Given the description of an element on the screen output the (x, y) to click on. 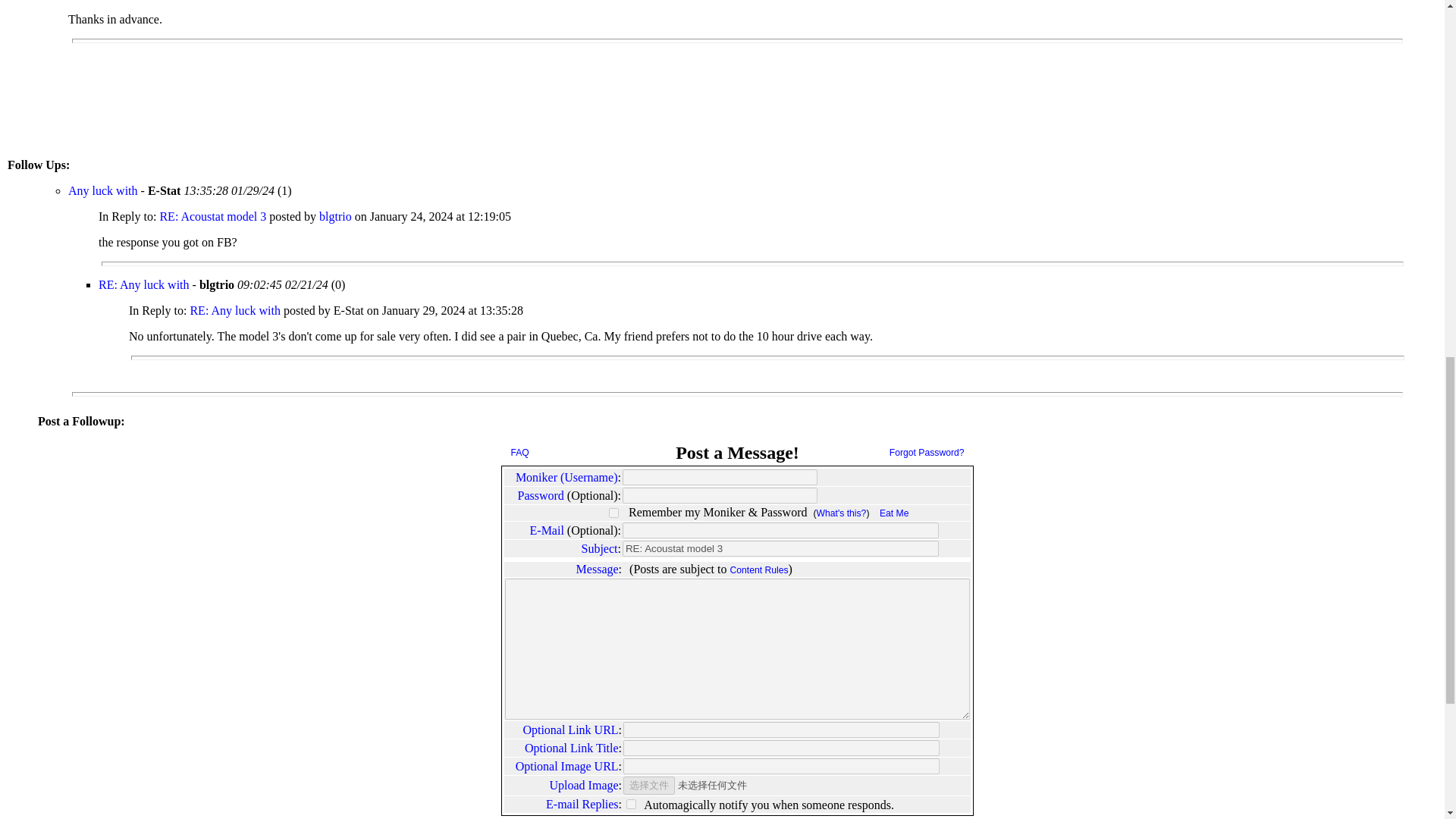
What's this? (841, 512)
Optional Image URL (566, 766)
FAQ (520, 452)
Any luck with (103, 190)
Message (597, 568)
blgtrio (336, 215)
Optional Link URL (569, 729)
E-Mail (546, 530)
Y (613, 512)
RE: Acoustat model 3 (213, 215)
